Given the description of an element on the screen output the (x, y) to click on. 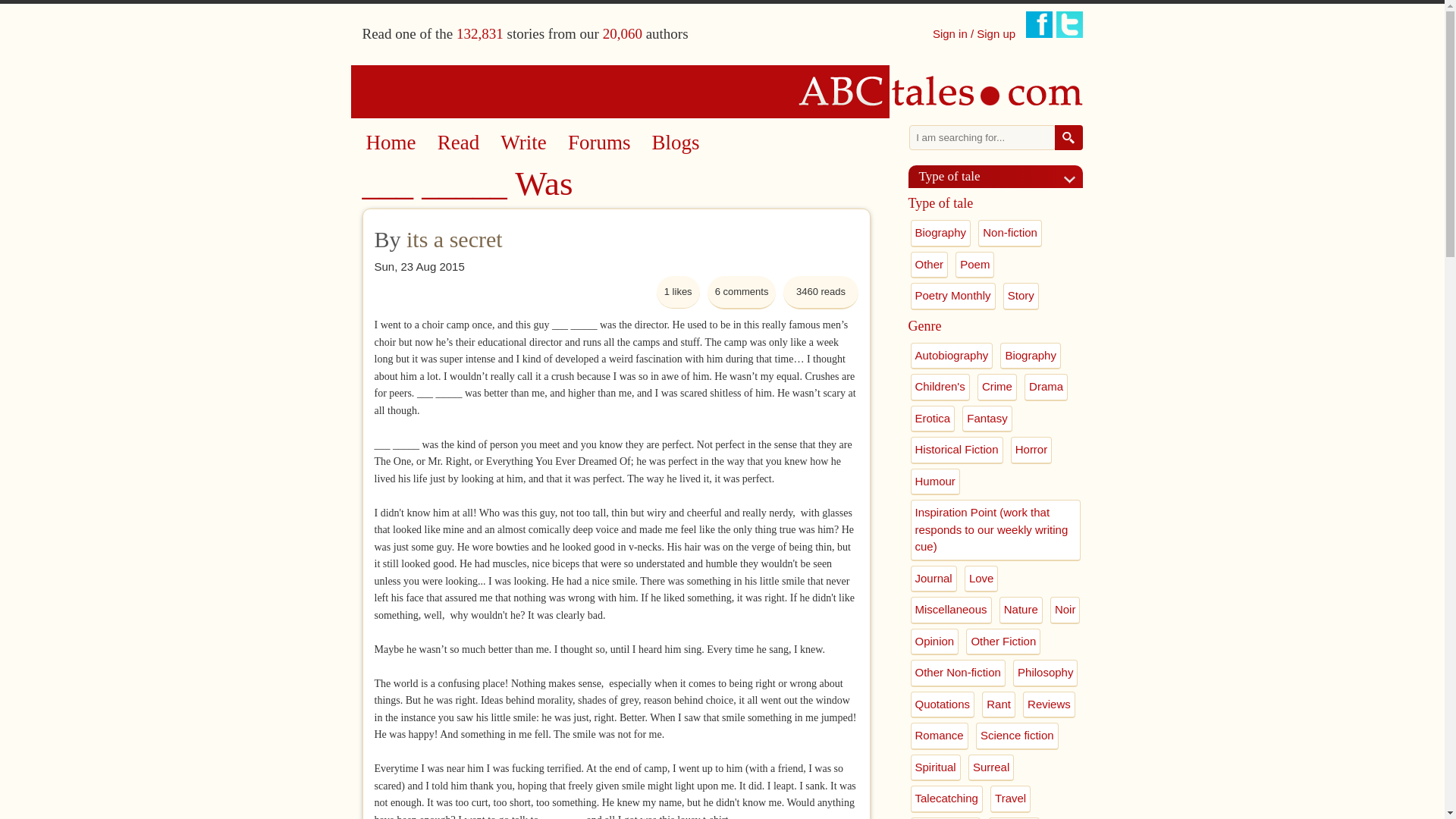
Home (722, 91)
its a secret (454, 238)
Forums (598, 142)
Blogs (676, 142)
Enter the terms you wish to search for. (981, 137)
Home (389, 142)
Write (523, 142)
Read (458, 142)
